Given the description of an element on the screen output the (x, y) to click on. 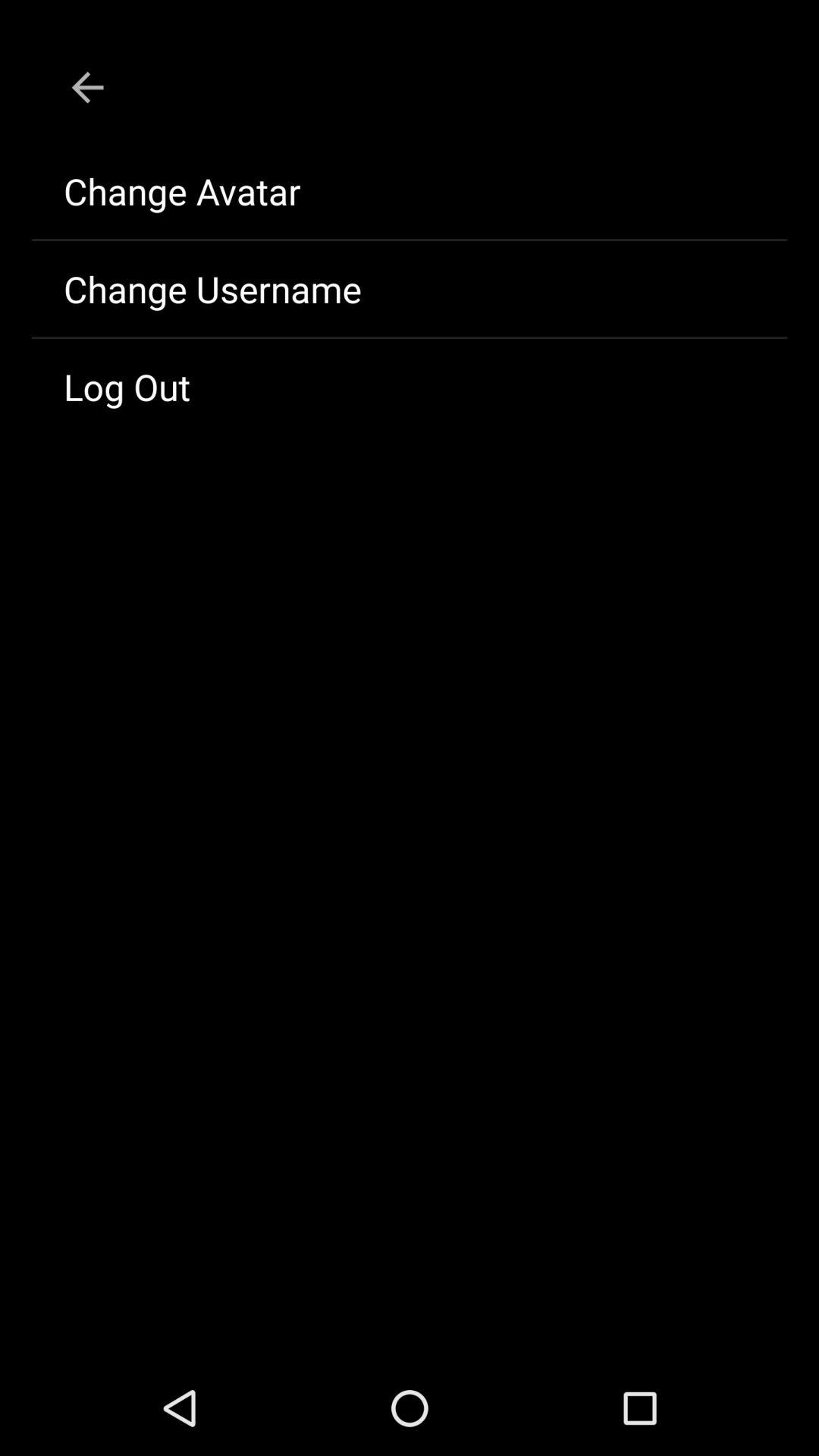
choose the change avatar (409, 190)
